Given the description of an element on the screen output the (x, y) to click on. 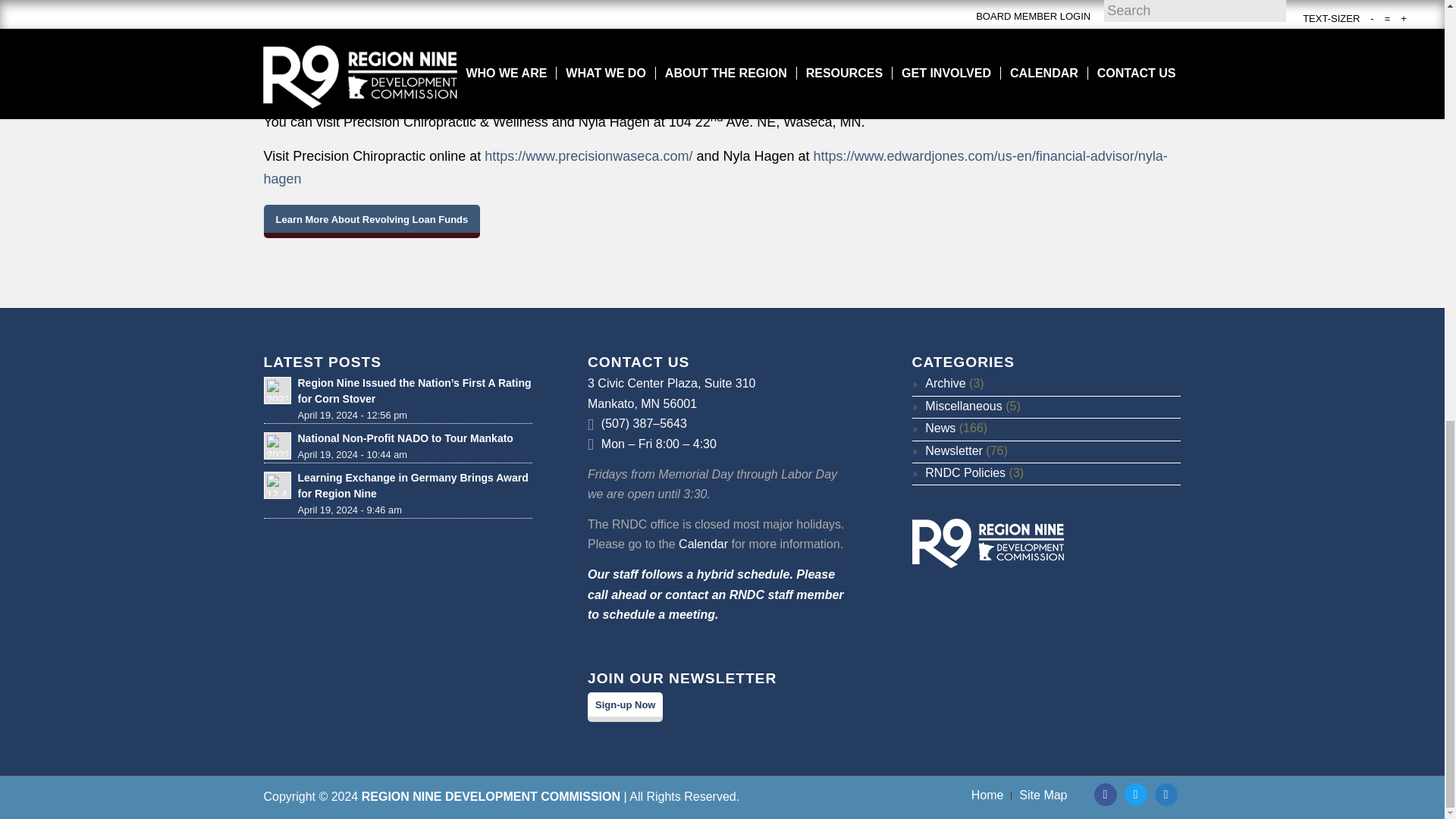
Newsletter (947, 450)
Miscellaneous (957, 405)
National Non-Profit NADO to Tour Mankato (404, 438)
Sign-up Now (625, 706)
News (934, 427)
Read: National Non-Profit NADO to Tour Mankato (277, 445)
Archive (939, 382)
Calendar (703, 543)
RNDC Policies (959, 472)
Learn More About Revolving Loan Funds (371, 221)
Learning Exchange in Germany Brings Award for Region Nine (412, 485)
Read: National Non-Profit NADO to Tour Mankato (404, 438)
